Given the description of an element on the screen output the (x, y) to click on. 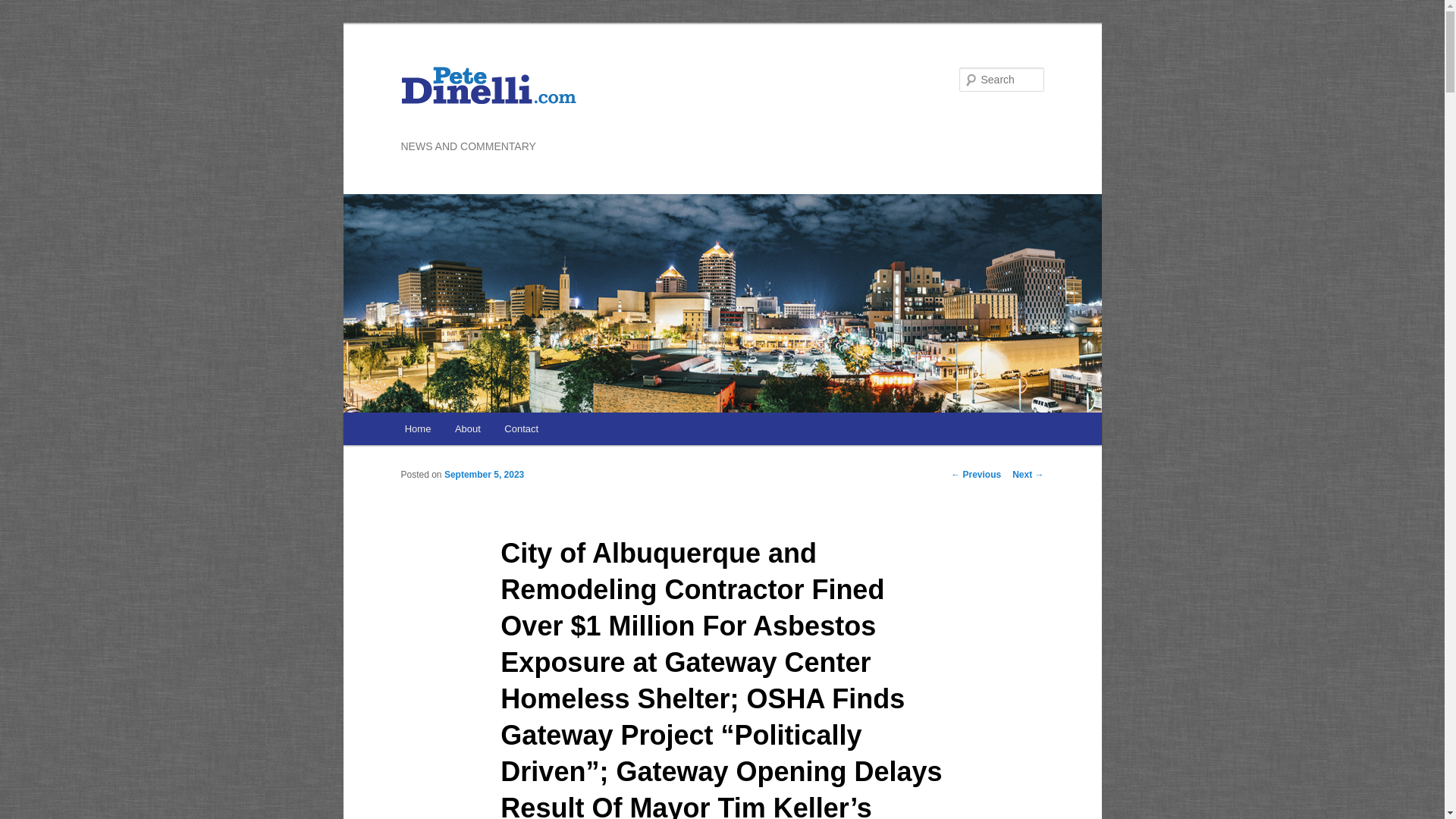
Contact (521, 428)
Search (24, 8)
About (467, 428)
Home (417, 428)
2:23 pm (484, 474)
September 5, 2023 (484, 474)
